Given the description of an element on the screen output the (x, y) to click on. 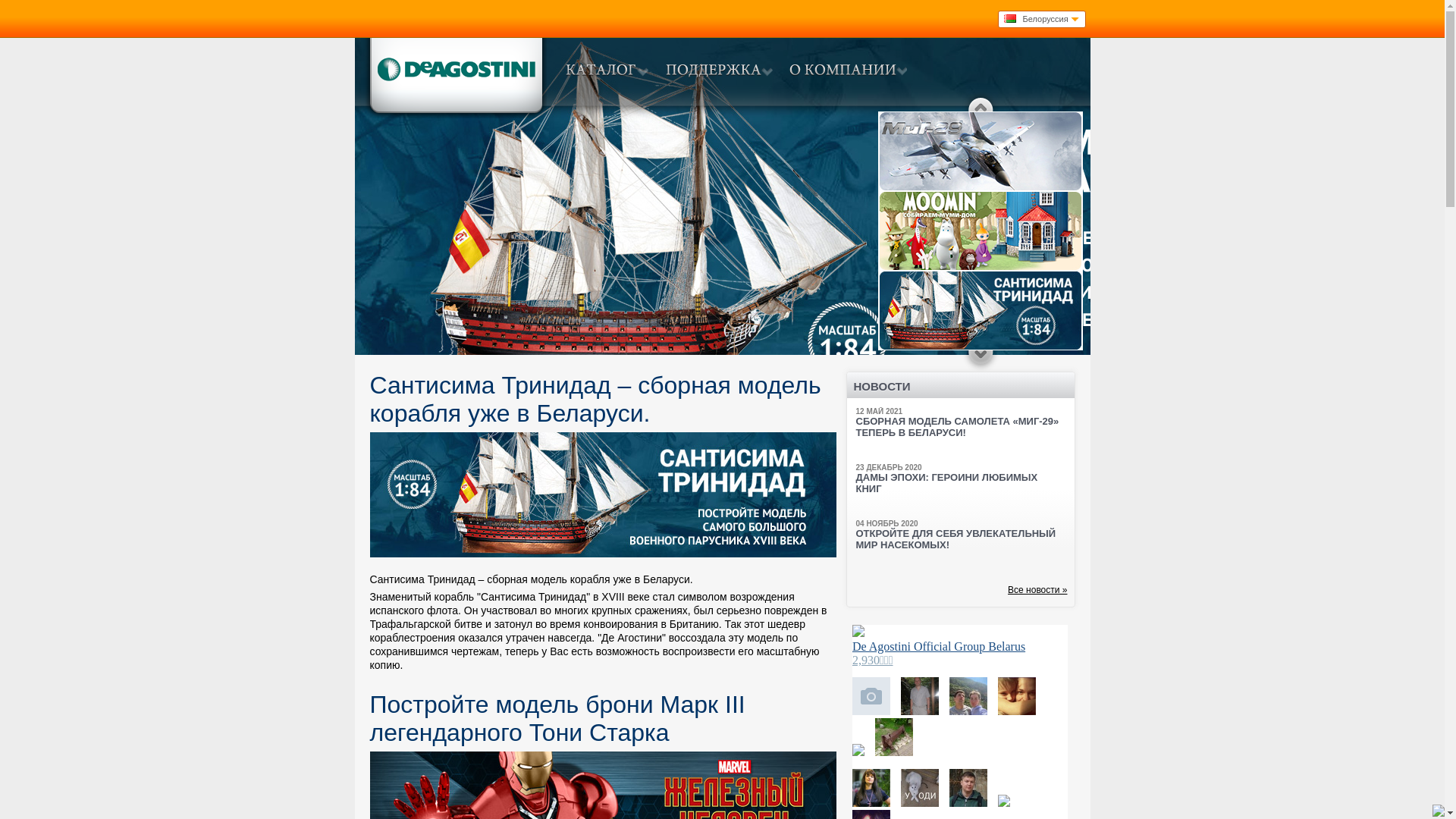
DeAgostini Element type: hover (454, 77)
Scroll down Element type: text (980, 358)
Scroll top Element type: text (980, 102)
